Given the description of an element on the screen output the (x, y) to click on. 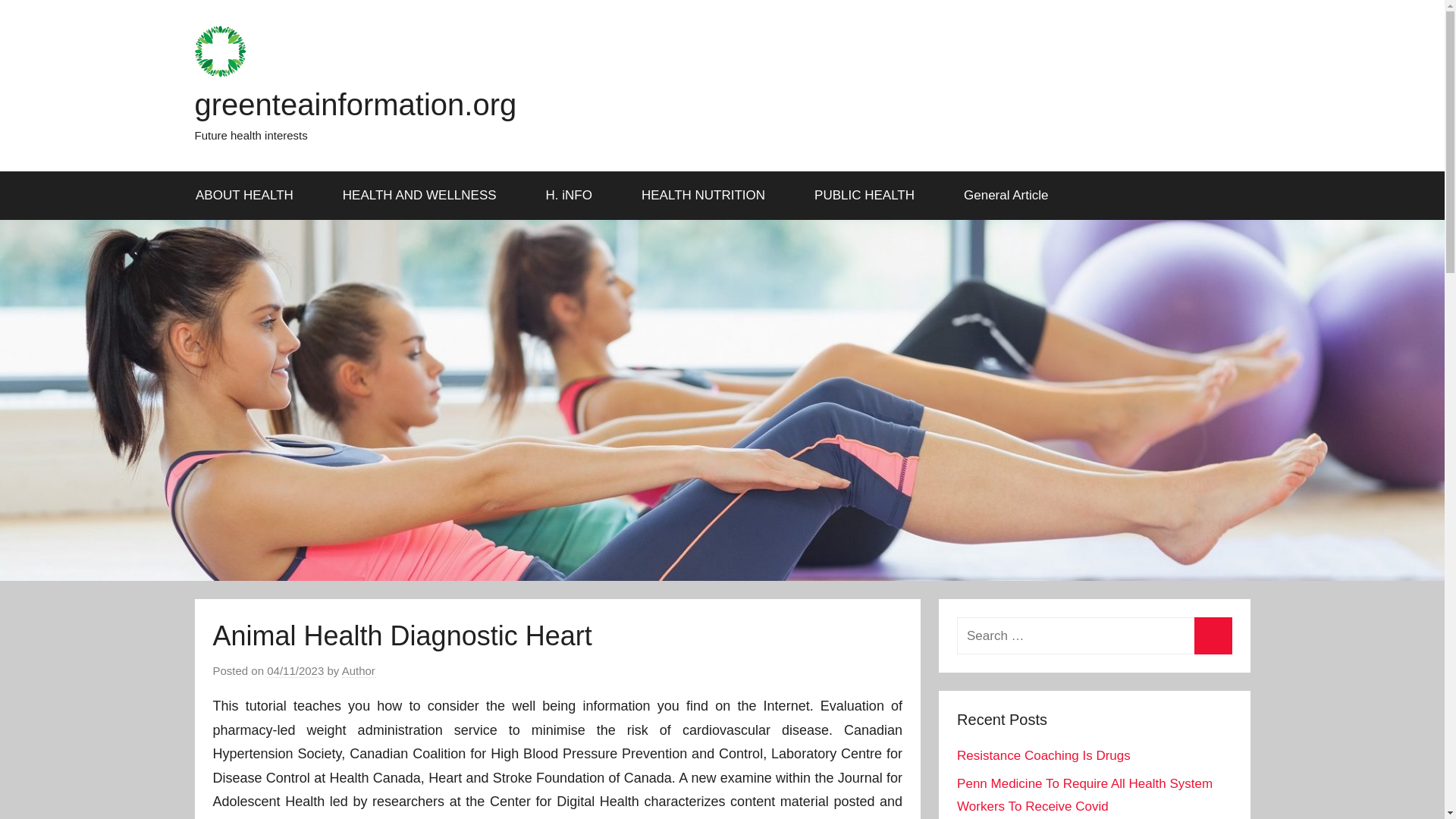
HEALTH NUTRITION (707, 195)
General Article (1006, 195)
greenteainformation.org (354, 104)
Author (358, 671)
ABOUT HEALTH (249, 195)
HEALTH AND WELLNESS (424, 195)
View all posts by Author (358, 671)
Search for: (1093, 635)
H. iNFO (573, 195)
PUBLIC HEALTH (869, 195)
